Given the description of an element on the screen output the (x, y) to click on. 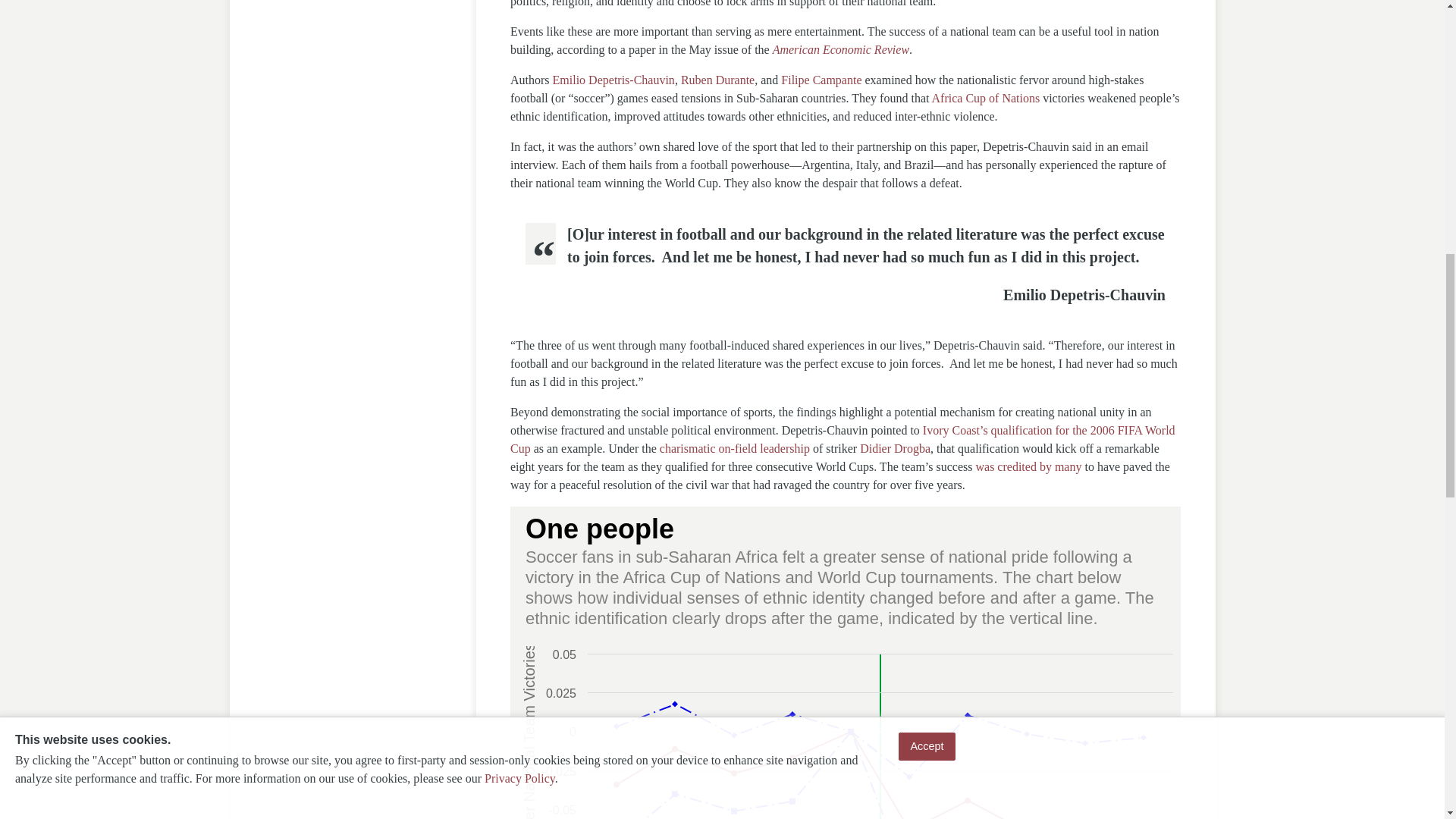
Filipe Campante (820, 79)
was credited by many (1028, 466)
Emilio Depetris-Chauvin (614, 79)
Ruben Durante (717, 79)
charismatic on-field leadership (734, 448)
American Economic Review (840, 49)
Didier Drogba (895, 448)
Africa Cup of Nations (983, 97)
